Given the description of an element on the screen output the (x, y) to click on. 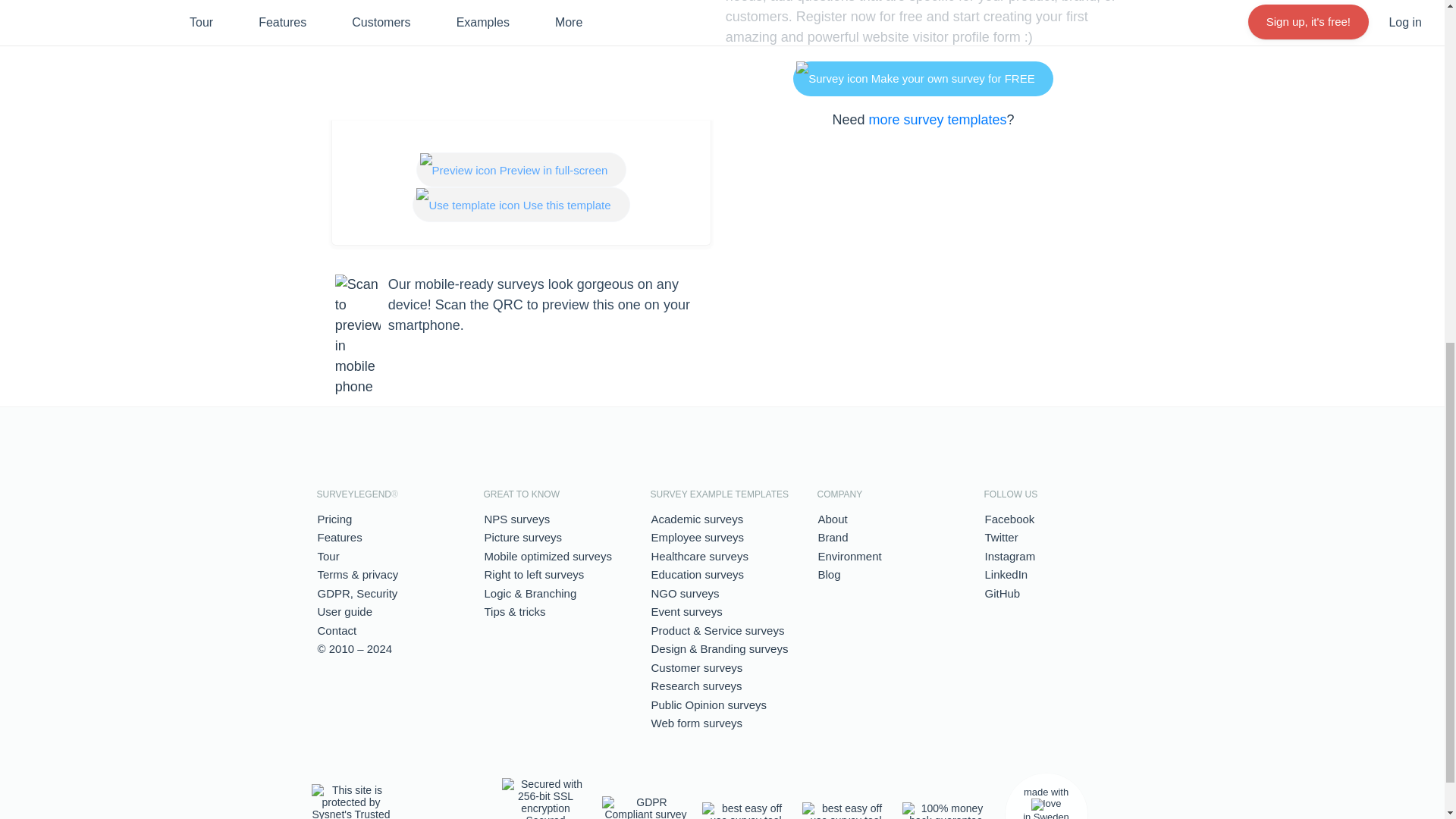
Picture surveys (522, 536)
Contact us (336, 630)
Preview in full-screen (521, 169)
Survey Features (339, 536)
User guide - Learn about your legendary surveying powers (344, 611)
more survey templates (936, 119)
Right to left surveys (533, 574)
Survey Tour (328, 555)
Prices and Plans (334, 518)
